Given the description of an element on the screen output the (x, y) to click on. 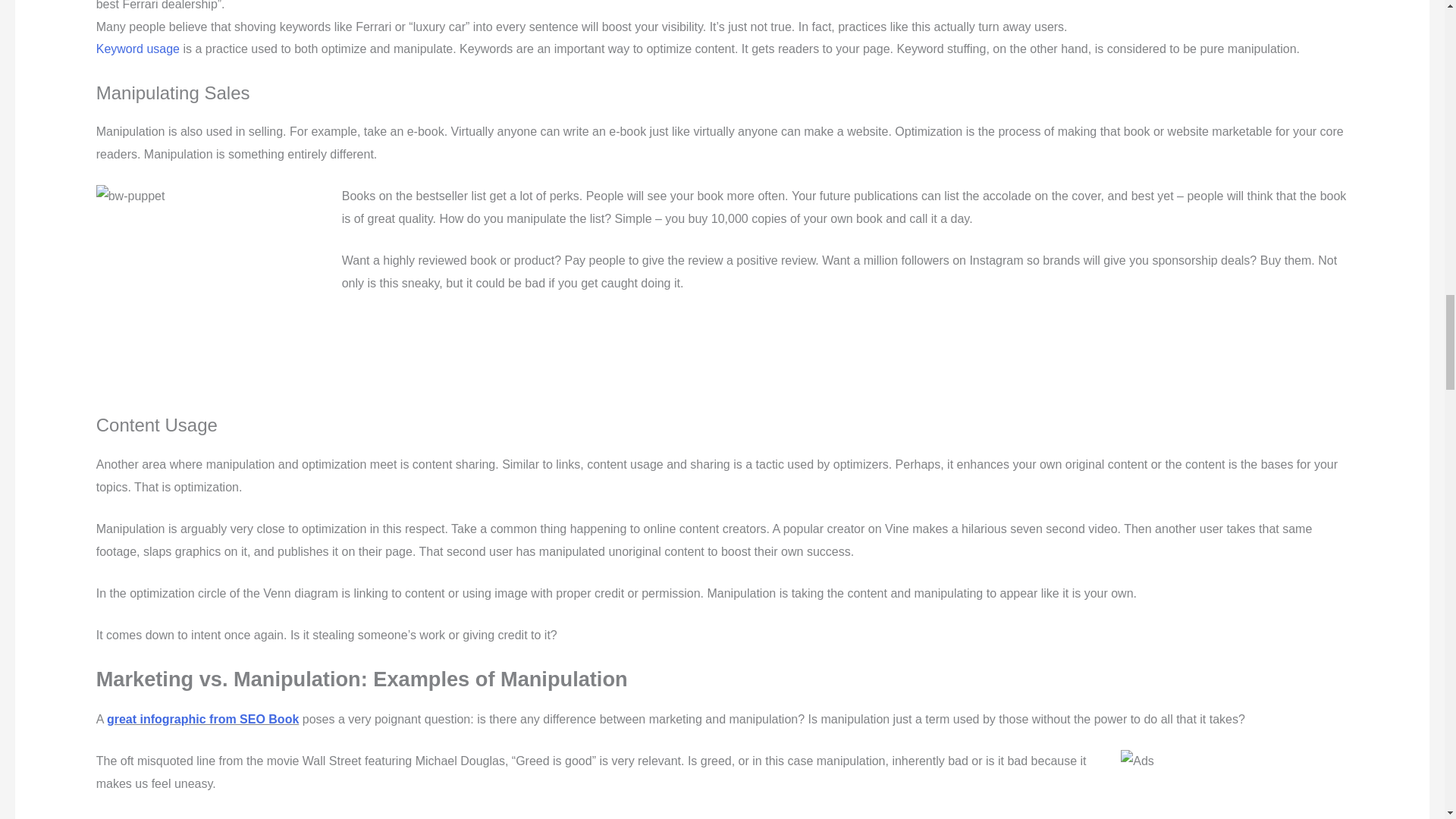
great infographic from SEO Book (202, 718)
Keyword usage (137, 48)
